Given the description of an element on the screen output the (x, y) to click on. 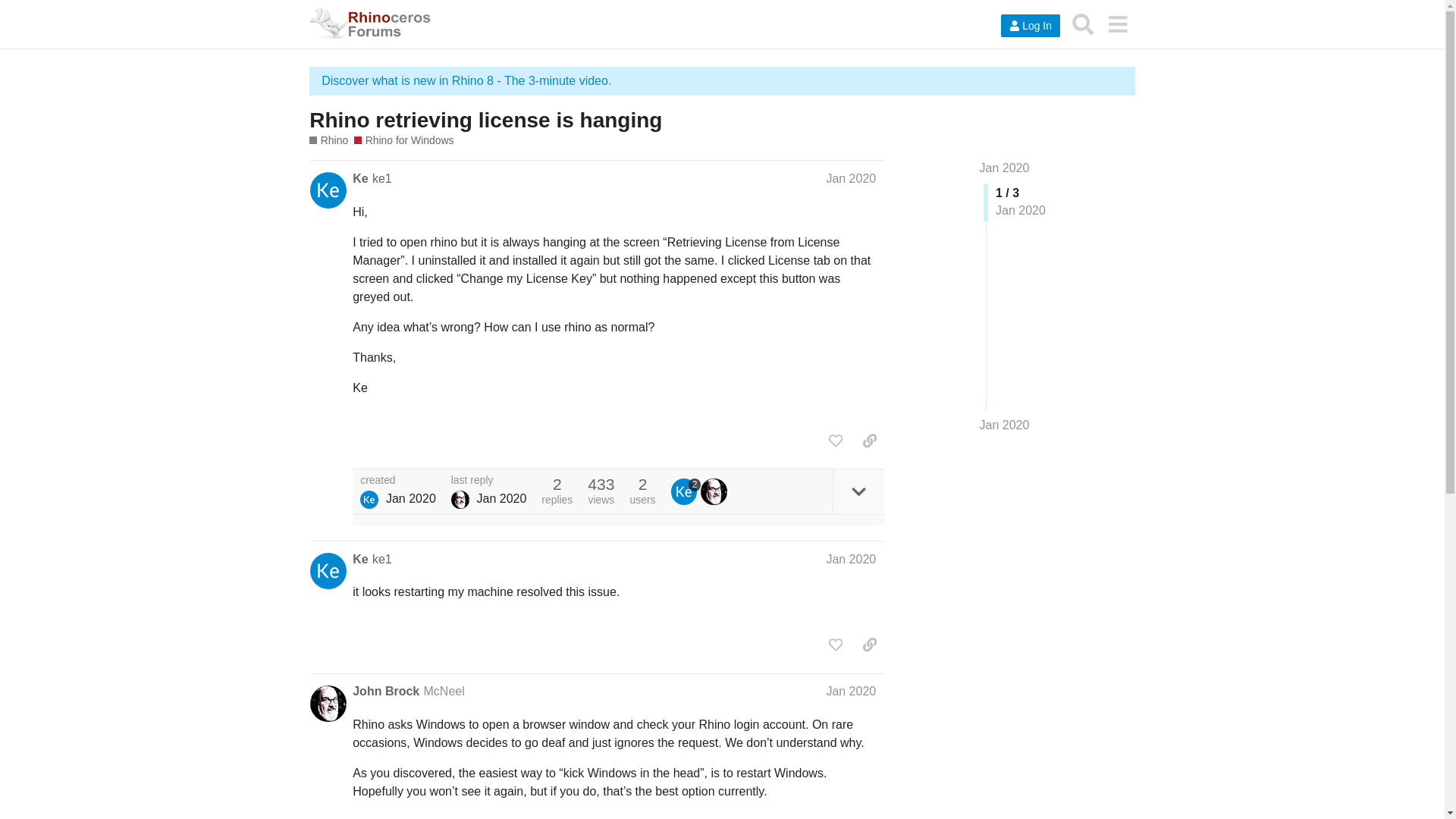
Post date (850, 178)
expand topic details (857, 491)
like this post (835, 440)
Jan 2020 (850, 690)
John Brock (459, 499)
last reply (489, 480)
Discover what is new in Rhino 8 - The 3-minute video. (466, 80)
Jan 17, 2020 6:38 am (500, 498)
Ke (368, 499)
copy a link to this post to clipboard (869, 440)
Jan 2020 (1004, 167)
Rhino (327, 140)
Search (1082, 23)
Ke (360, 559)
Ke (360, 178)
